Given the description of an element on the screen output the (x, y) to click on. 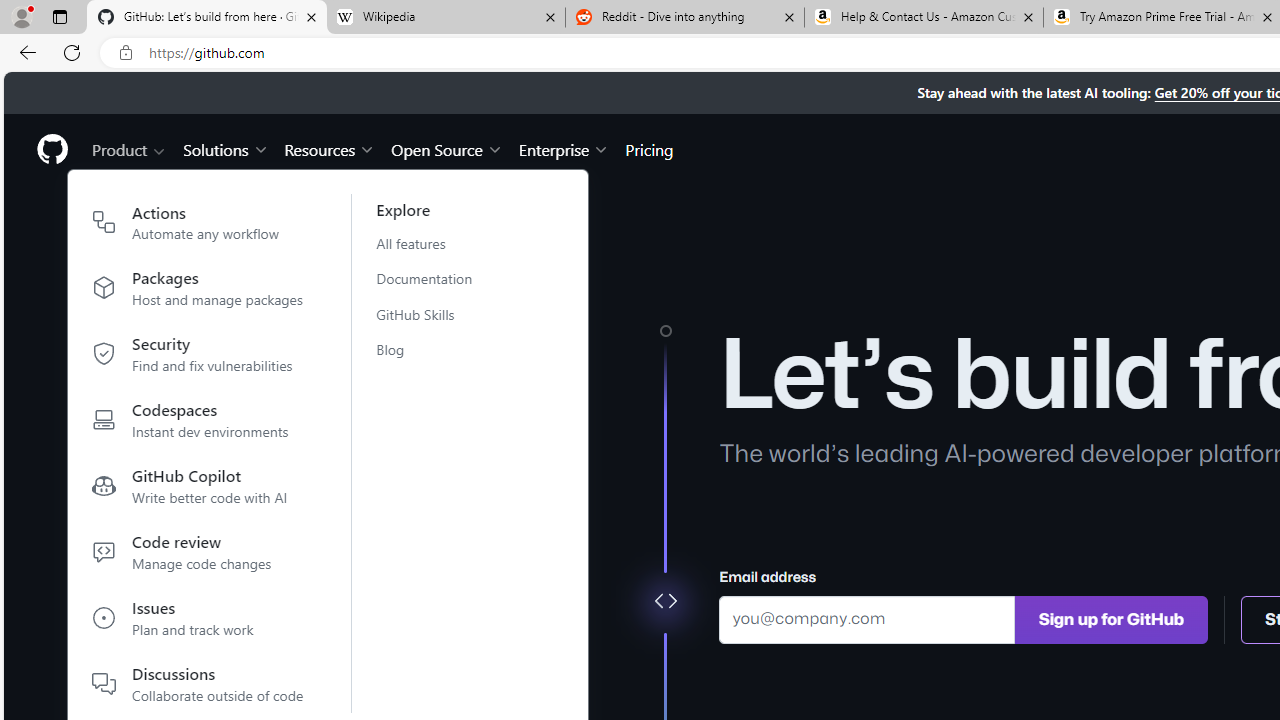
Solutions (225, 148)
Resources (330, 148)
GitHub CopilotWrite better code with AI (198, 490)
GitHub Skills (436, 313)
Pricing (649, 148)
Wikipedia (445, 17)
Help & Contact Us - Amazon Customer Service (924, 17)
IssuesPlan and track work (198, 621)
Blog (436, 349)
Enterprise (563, 148)
All features (436, 243)
